Given the description of an element on the screen output the (x, y) to click on. 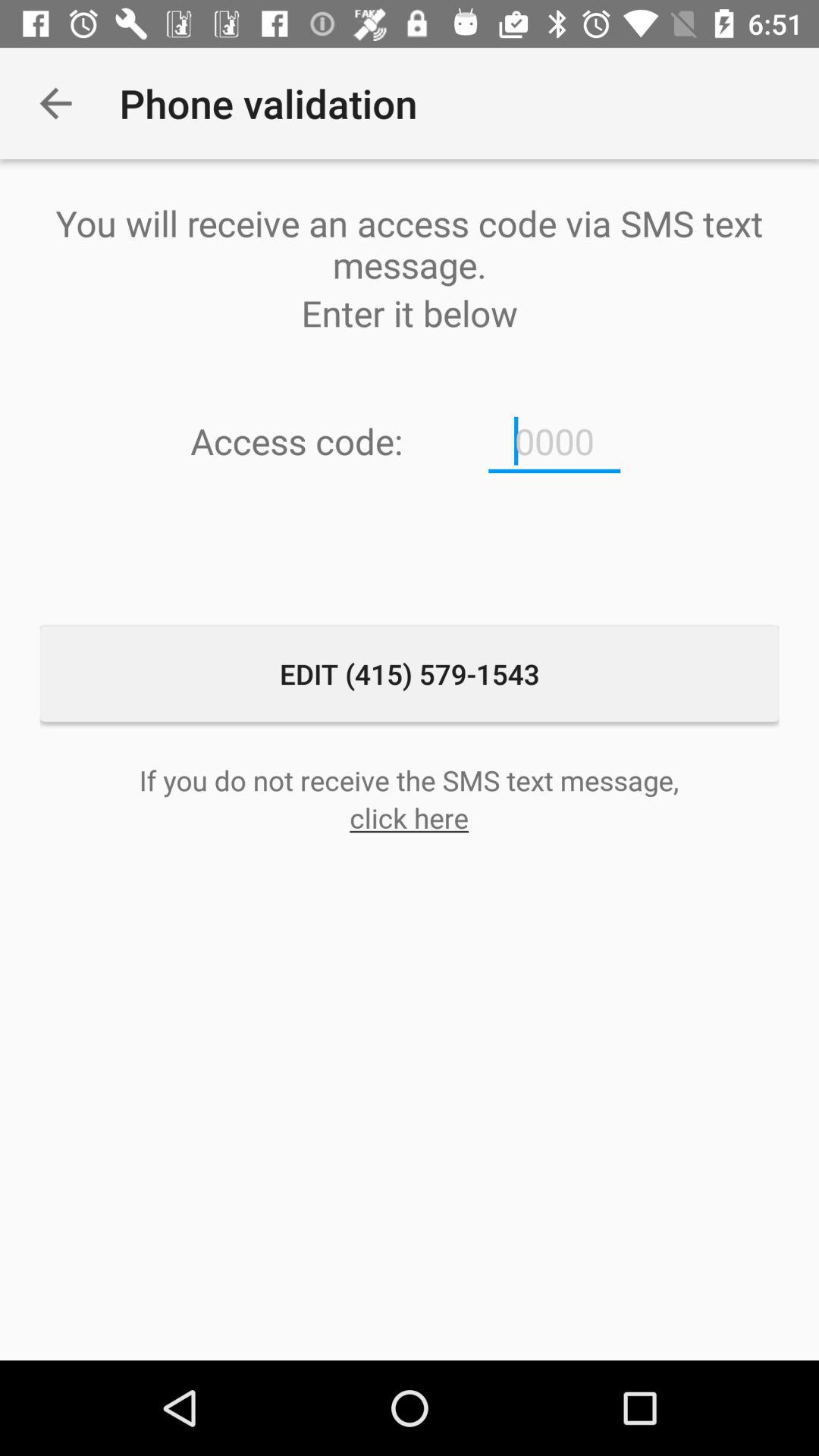
open icon next to access code: item (554, 441)
